Given the description of an element on the screen output the (x, y) to click on. 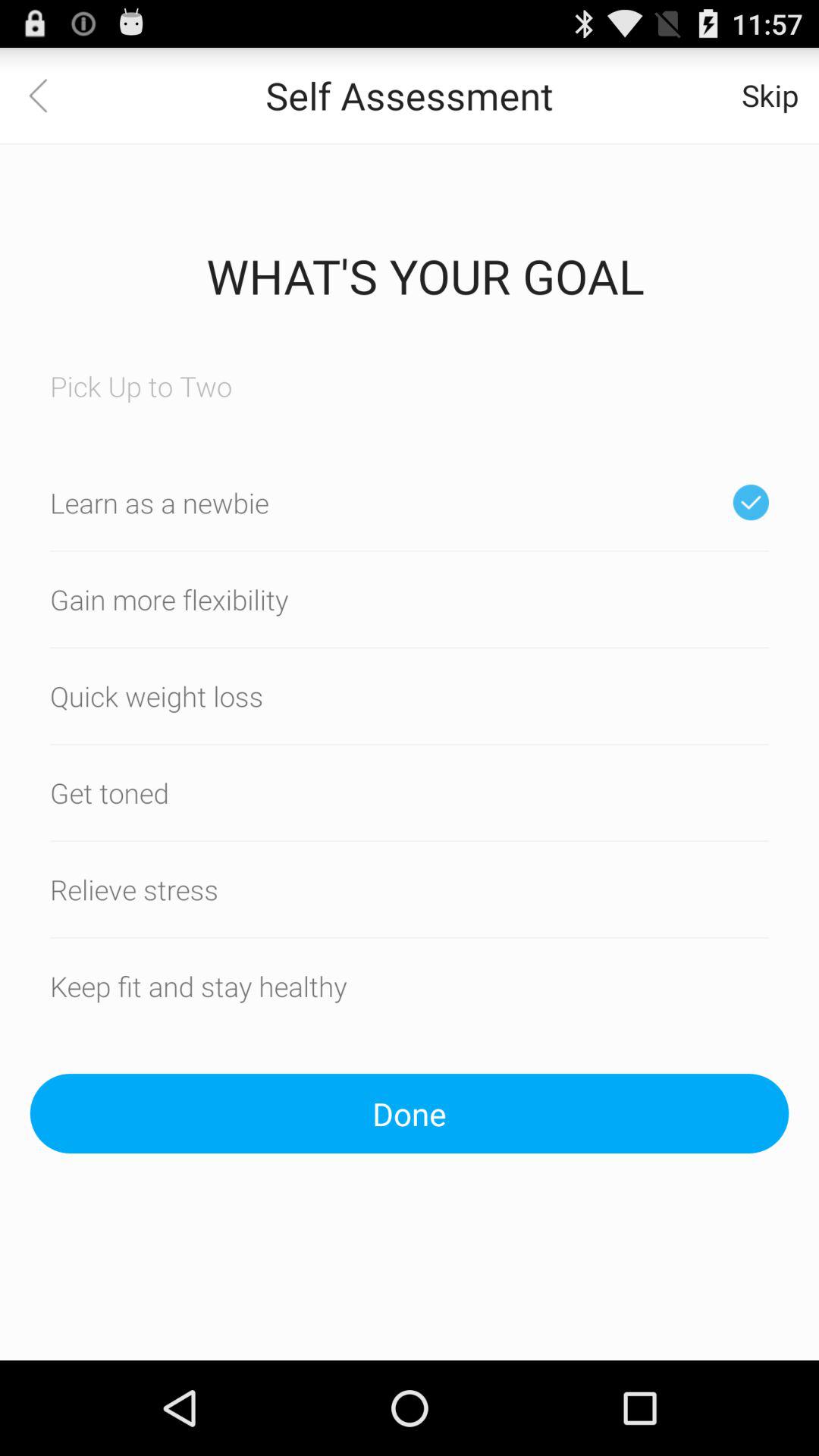
click icon next to the self assessment (47, 95)
